Given the description of an element on the screen output the (x, y) to click on. 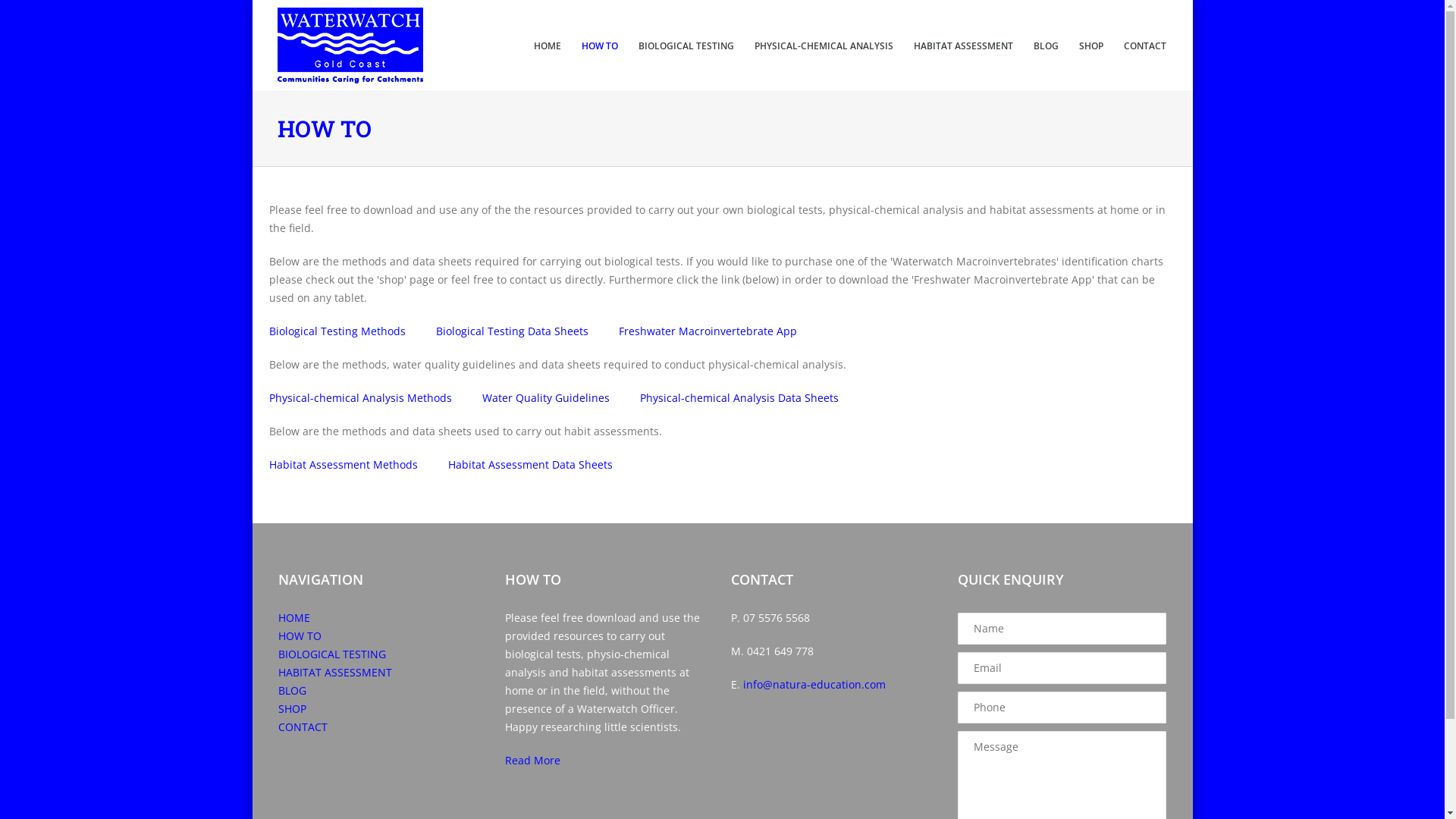
HOW TO Element type: text (299, 635)
Water Quality Guidelines Element type: text (545, 397)
Habitat Assessment Methods Element type: text (342, 464)
BIOLOGICAL TESTING Element type: text (685, 45)
HABITAT ASSESSMENT Element type: text (963, 45)
BLOG Element type: text (292, 690)
CONTACT Element type: text (302, 726)
Read More Element type: text (532, 760)
Physical-chemical Analysis Methods Element type: text (359, 397)
Habitat Assessment Data Sheets Element type: text (529, 464)
Biological Testing Methods Element type: text (336, 330)
HOW TO Element type: text (599, 45)
Freshwater Macroinvertebrate App Element type: text (707, 330)
CONTACT Element type: text (1145, 45)
BIOLOGICAL TESTING Element type: text (331, 653)
HOME Element type: text (547, 45)
Biological Testing Data Sheets Element type: text (511, 330)
HOME Element type: text (294, 617)
SHOP Element type: text (292, 708)
PHYSICAL-CHEMICAL ANALYSIS Element type: text (823, 45)
Physical-chemical Analysis Data Sheets Element type: text (739, 397)
info@natura-education.com Element type: text (814, 684)
SHOP Element type: text (1091, 45)
BLOG Element type: text (1045, 45)
HABITAT ASSESSMENT Element type: text (335, 672)
